Given the description of an element on the screen output the (x, y) to click on. 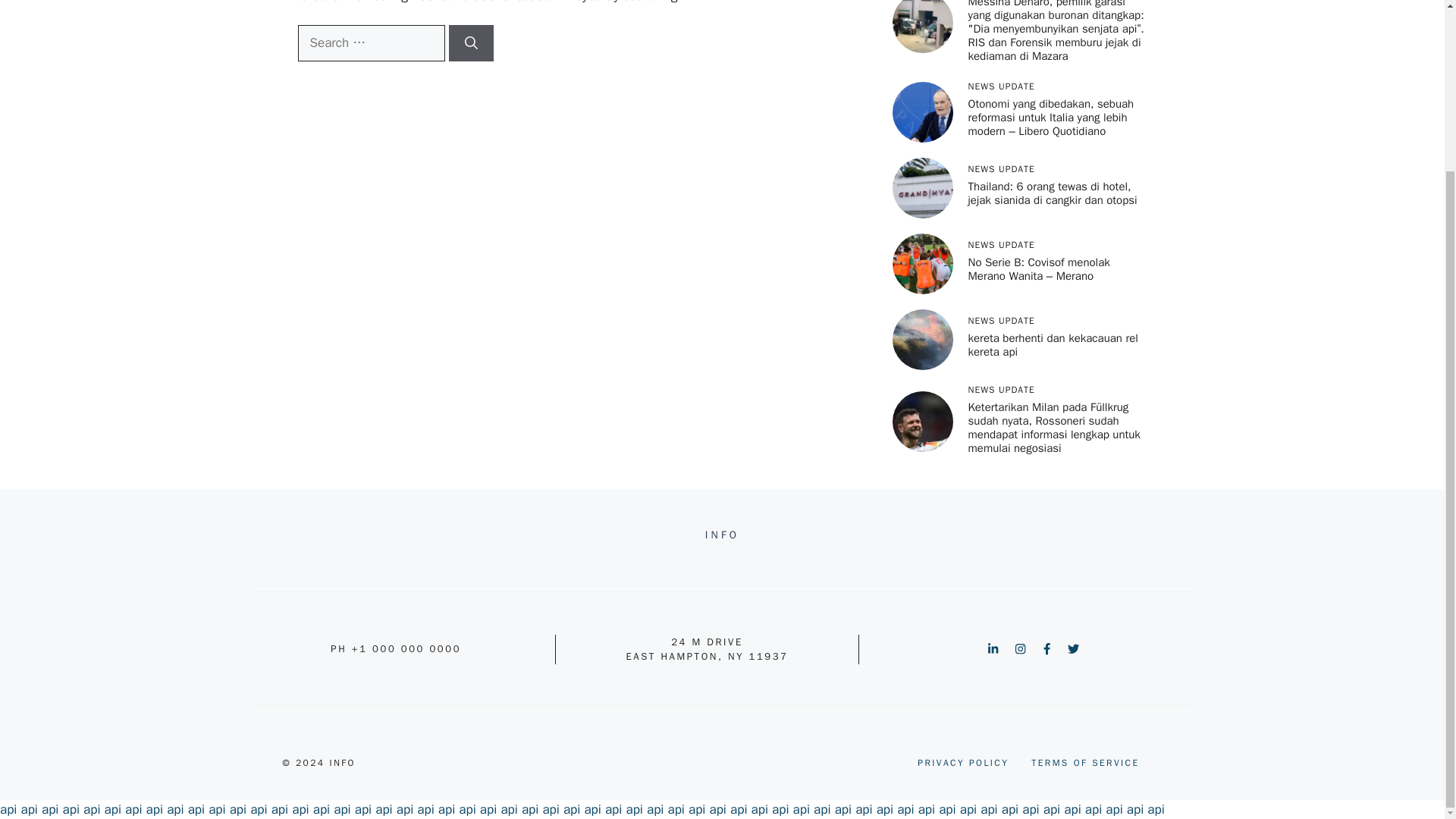
PRIVACY POLICY (963, 762)
api (8, 809)
api (29, 809)
kereta berhenti dan kekacauan rel kereta api (1052, 344)
TERMS OF SERVICE (1084, 762)
Search for: (370, 43)
